Given the description of an element on the screen output the (x, y) to click on. 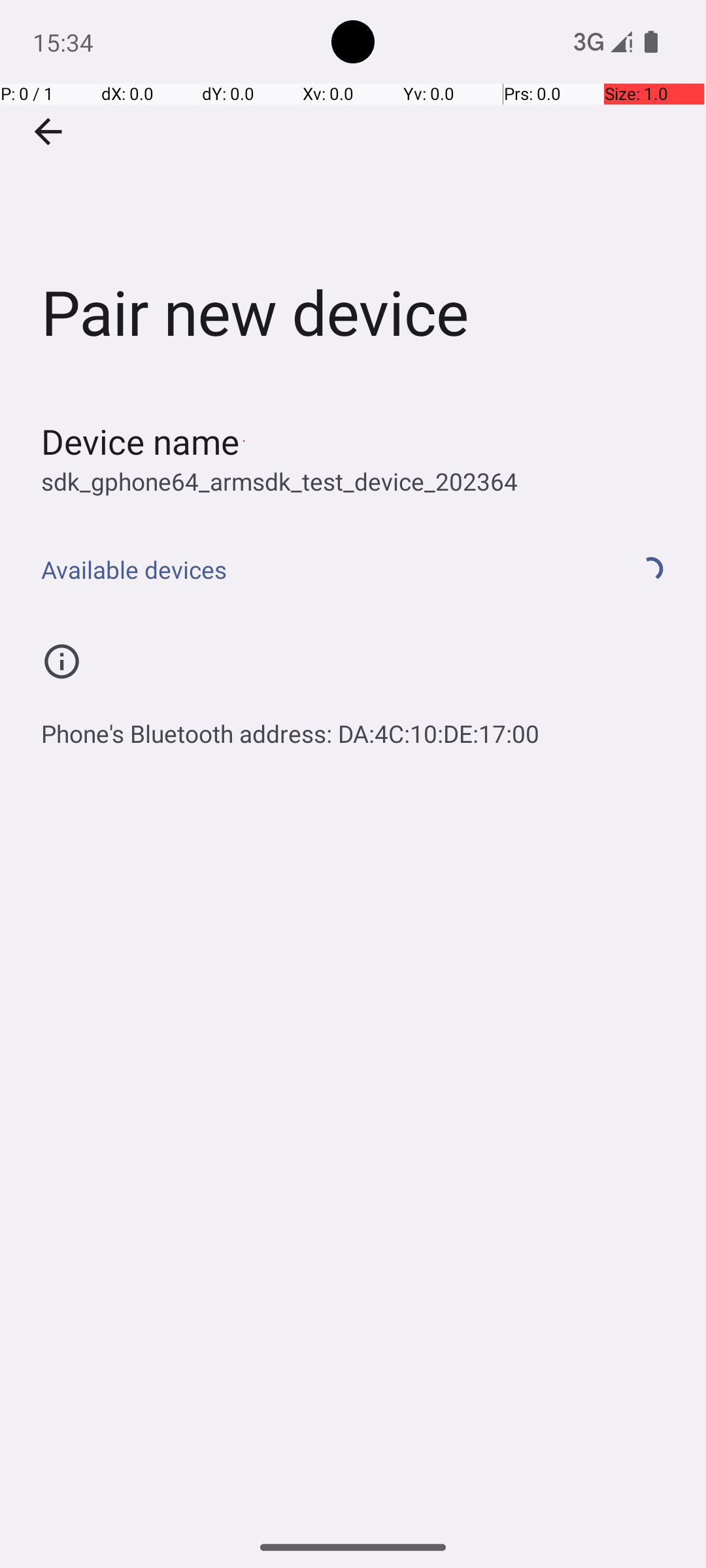
sdk_gphone64_armsdk_test_device_202364 Element type: android.widget.TextView (279, 480)
